Given the description of an element on the screen output the (x, y) to click on. 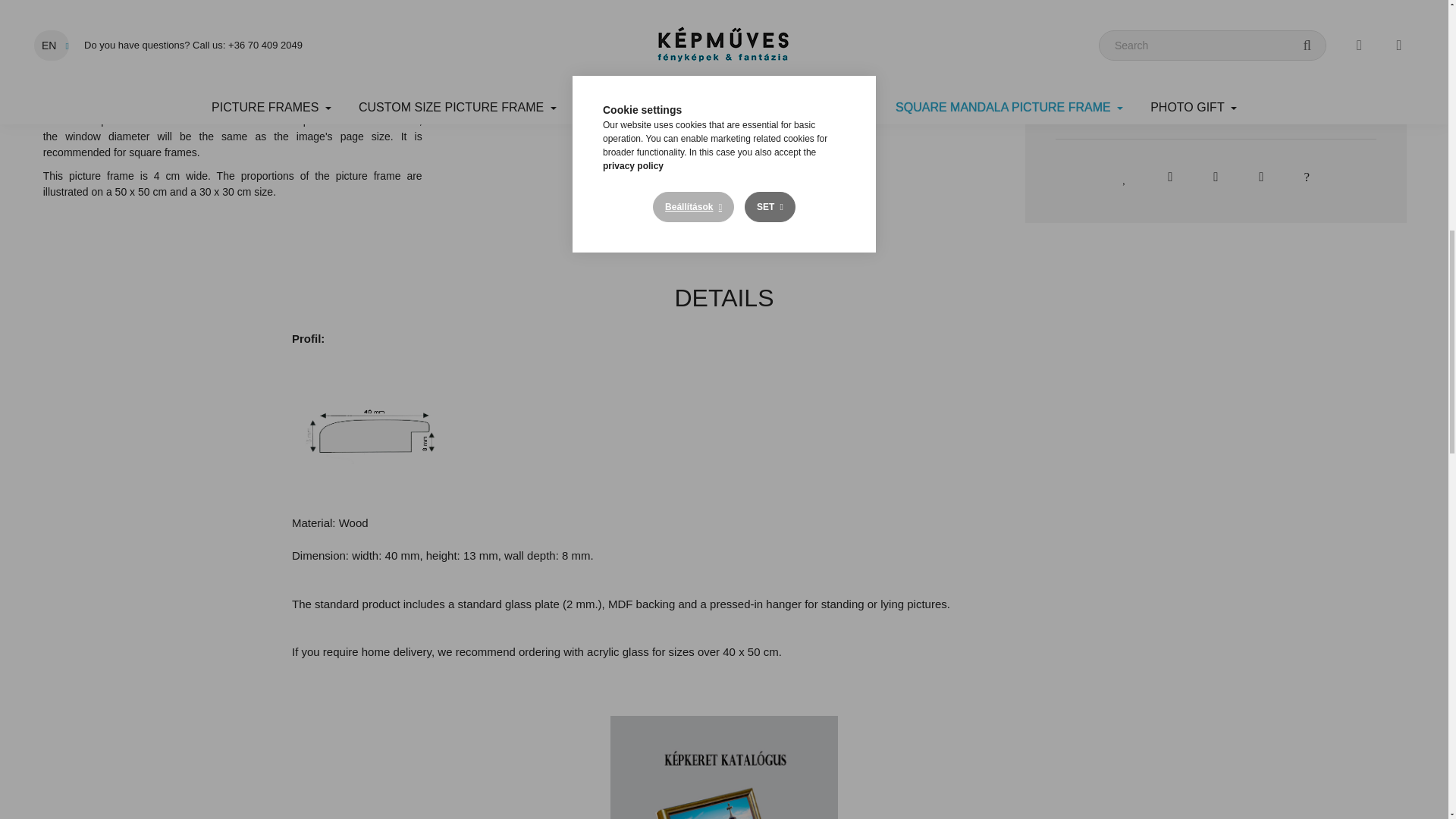
Nairobi square mandala picture frame blue (100, 21)
DETAILS (724, 1)
